Given the description of an element on the screen output the (x, y) to click on. 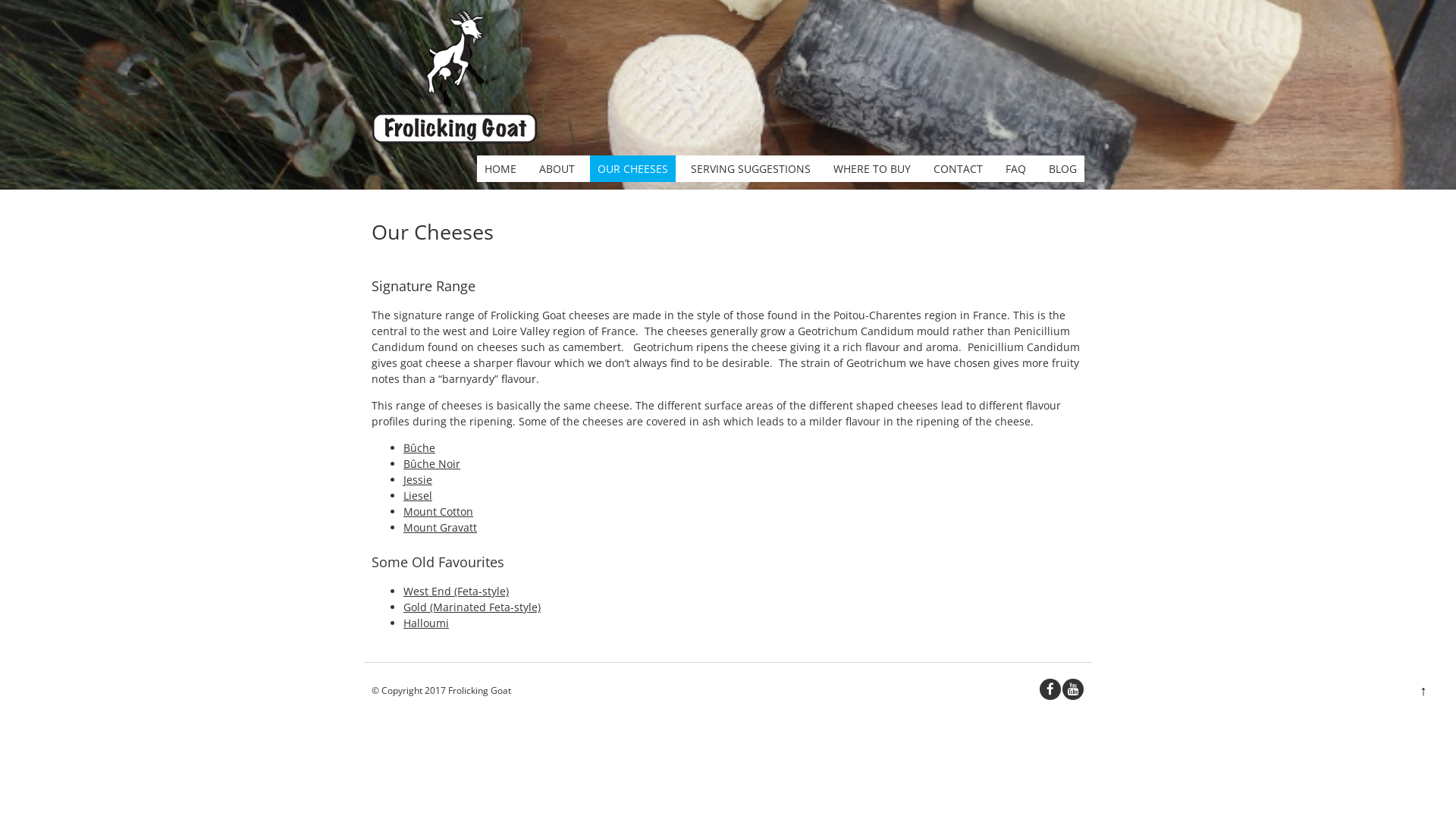
Mount Gravatt Element type: text (439, 527)
Mount Cotton Element type: text (438, 511)
Artisan Goat Cheese Element type: hover (454, 139)
FAQ Element type: text (1015, 168)
BLOG Element type: text (1062, 168)
HOME Element type: text (500, 168)
WHERE TO BUY Element type: text (871, 168)
ABOUT Element type: text (556, 168)
facebook Element type: hover (1049, 688)
OUR CHEESES Element type: text (632, 168)
West End (Feta-style) Element type: text (455, 590)
CONTACT Element type: text (957, 168)
Gold (Marinated Feta-style) Element type: text (471, 606)
Liesel Element type: text (417, 495)
SERVING SUGGESTIONS Element type: text (750, 168)
Halloumi Element type: text (425, 622)
Jessie Element type: text (417, 479)
youtube Element type: hover (1072, 688)
